Given the description of an element on the screen output the (x, y) to click on. 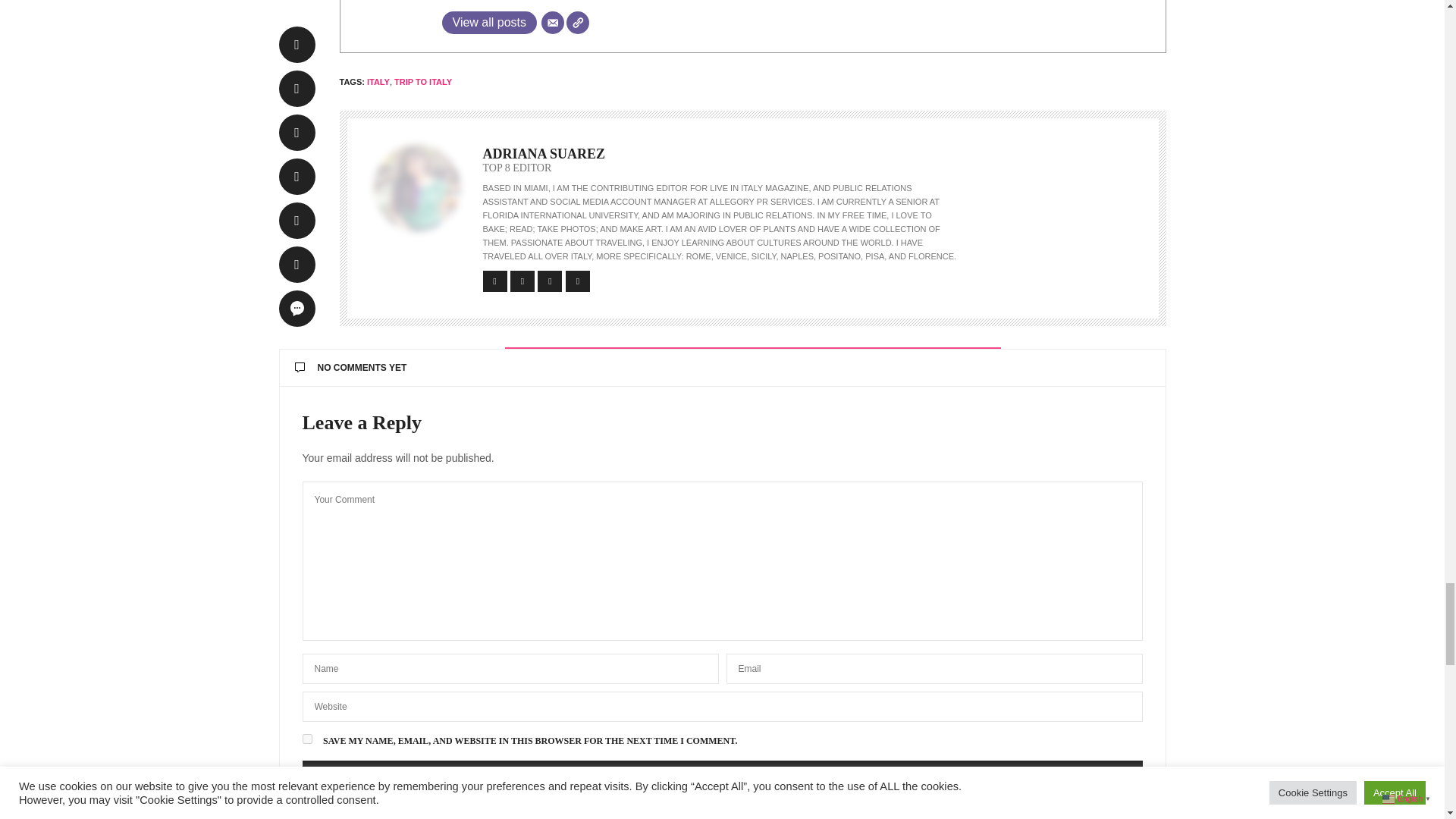
yes (306, 738)
View all posts (489, 22)
Submit Comment (721, 775)
